Given the description of an element on the screen output the (x, y) to click on. 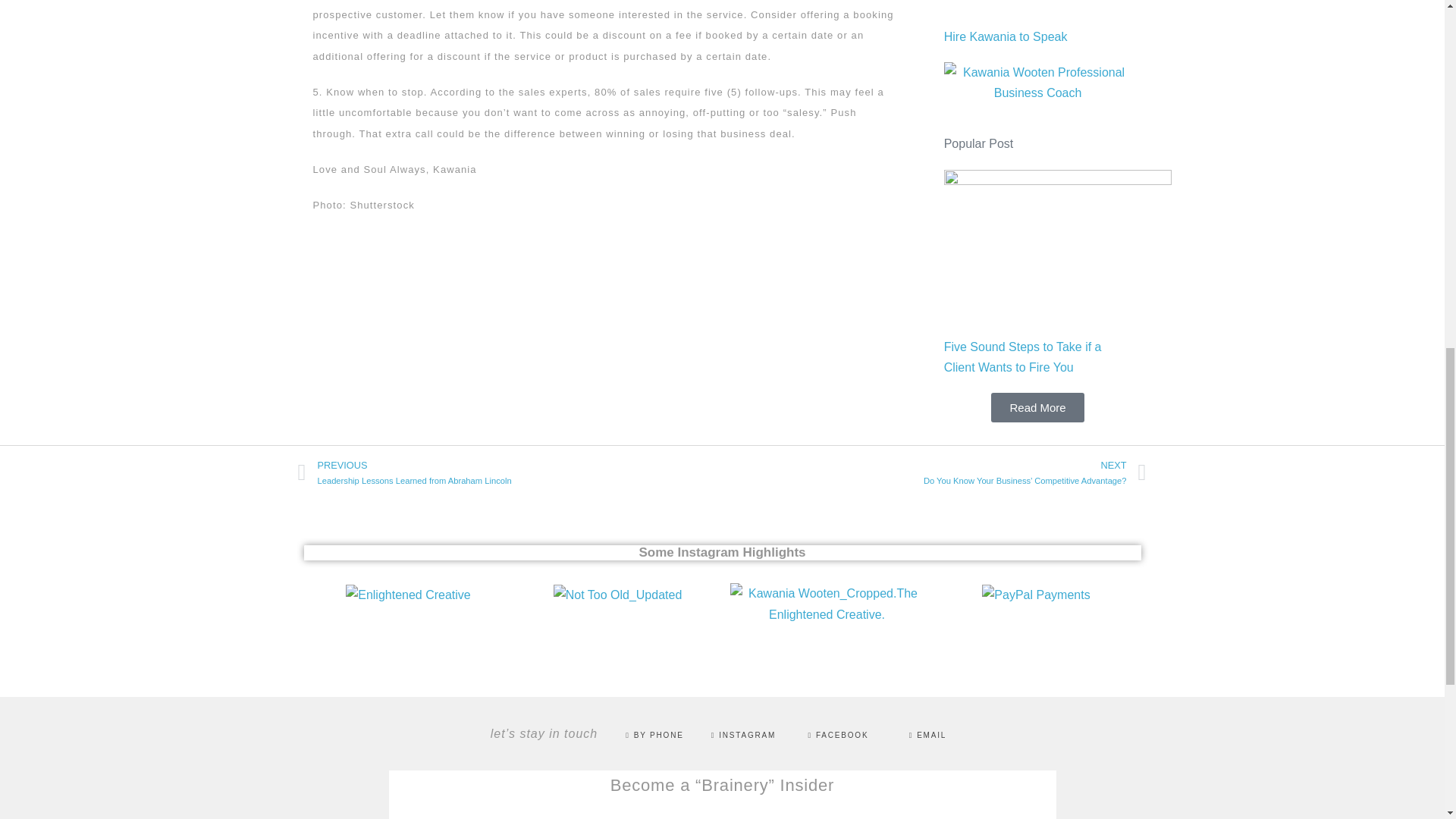
BY PHONE (654, 735)
Enlightened Creative (408, 594)
PayPal Payments (509, 472)
Hire Kawania to Speak (1035, 594)
Some Instagram Highlights (1005, 36)
FACEBOOK (722, 552)
Read More (838, 735)
INSTAGRAM (1037, 407)
Kawania Wooten Professional Business Coach (743, 735)
